Given the description of an element on the screen output the (x, y) to click on. 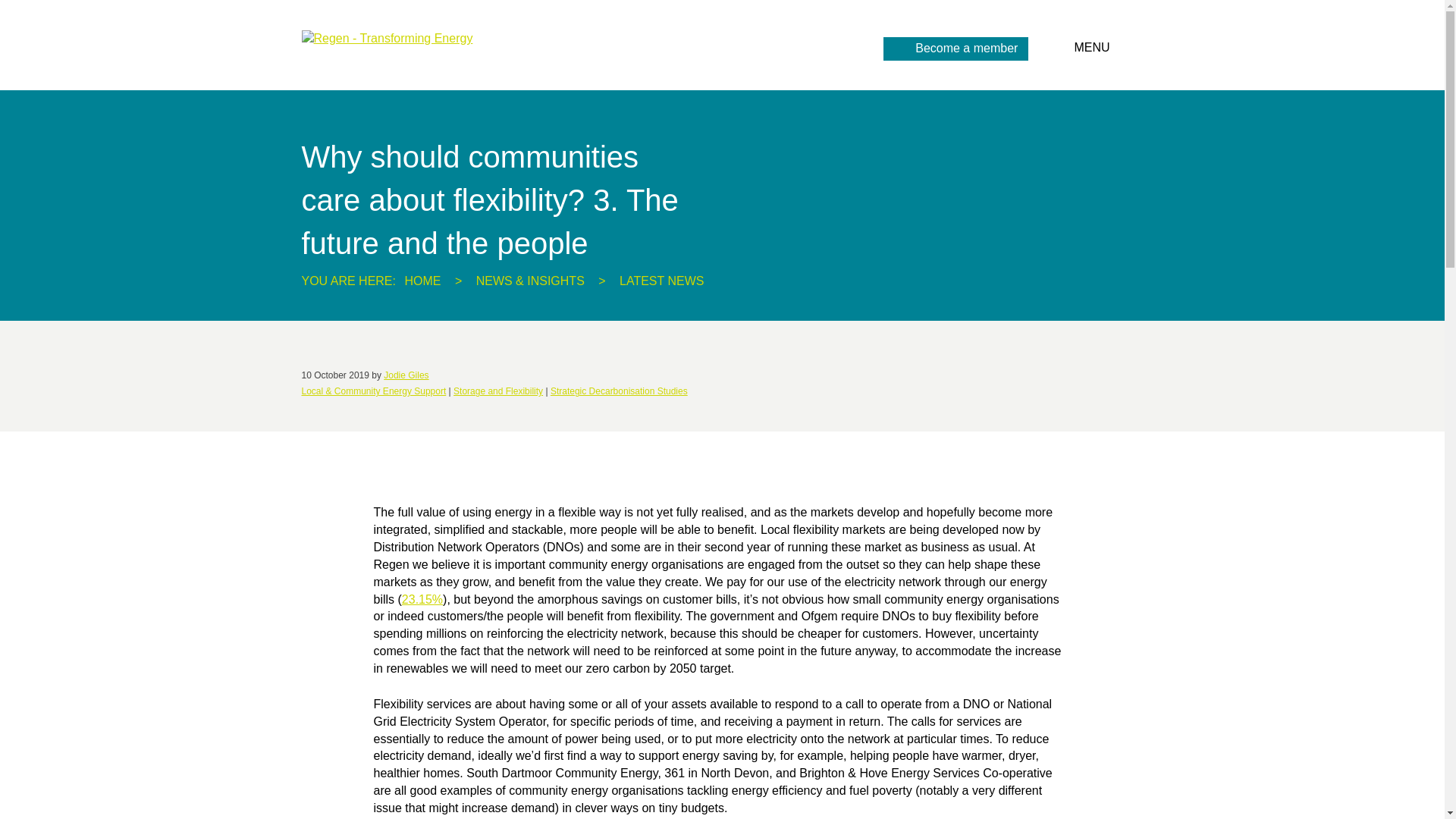
MENU (1103, 47)
Storage and Flexibility (497, 390)
Become a member (955, 48)
Menu (955, 48)
Regen - Transforming Energy (392, 38)
Strategic Decarbonisation Studies (618, 390)
Menu (1103, 47)
